Given the description of an element on the screen output the (x, y) to click on. 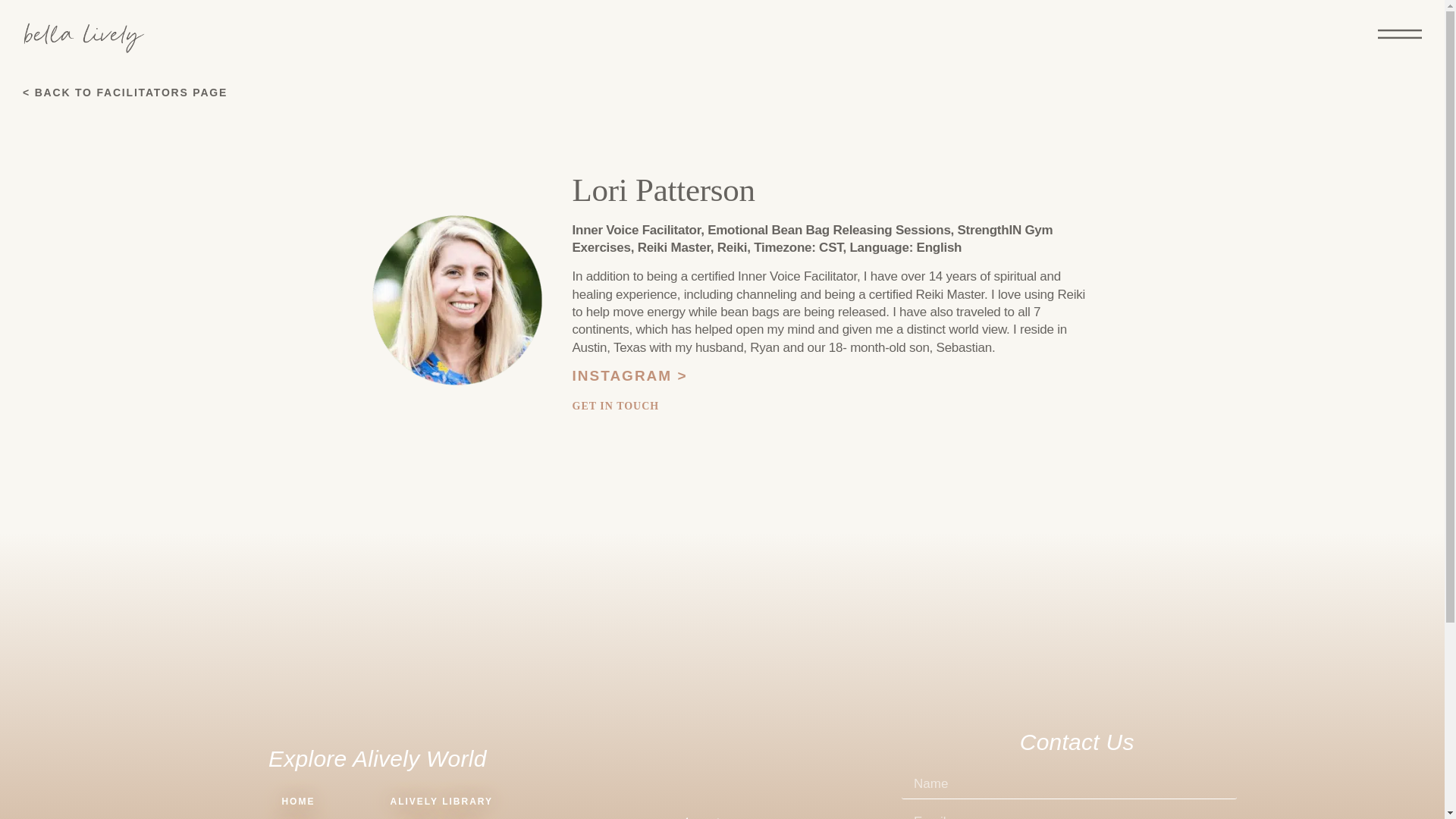
ABOUT (298, 816)
ALIVELY LIBRARY (441, 801)
HOME (298, 801)
GET IN TOUCH (615, 405)
MEDITATIONS (441, 816)
